Given the description of an element on the screen output the (x, y) to click on. 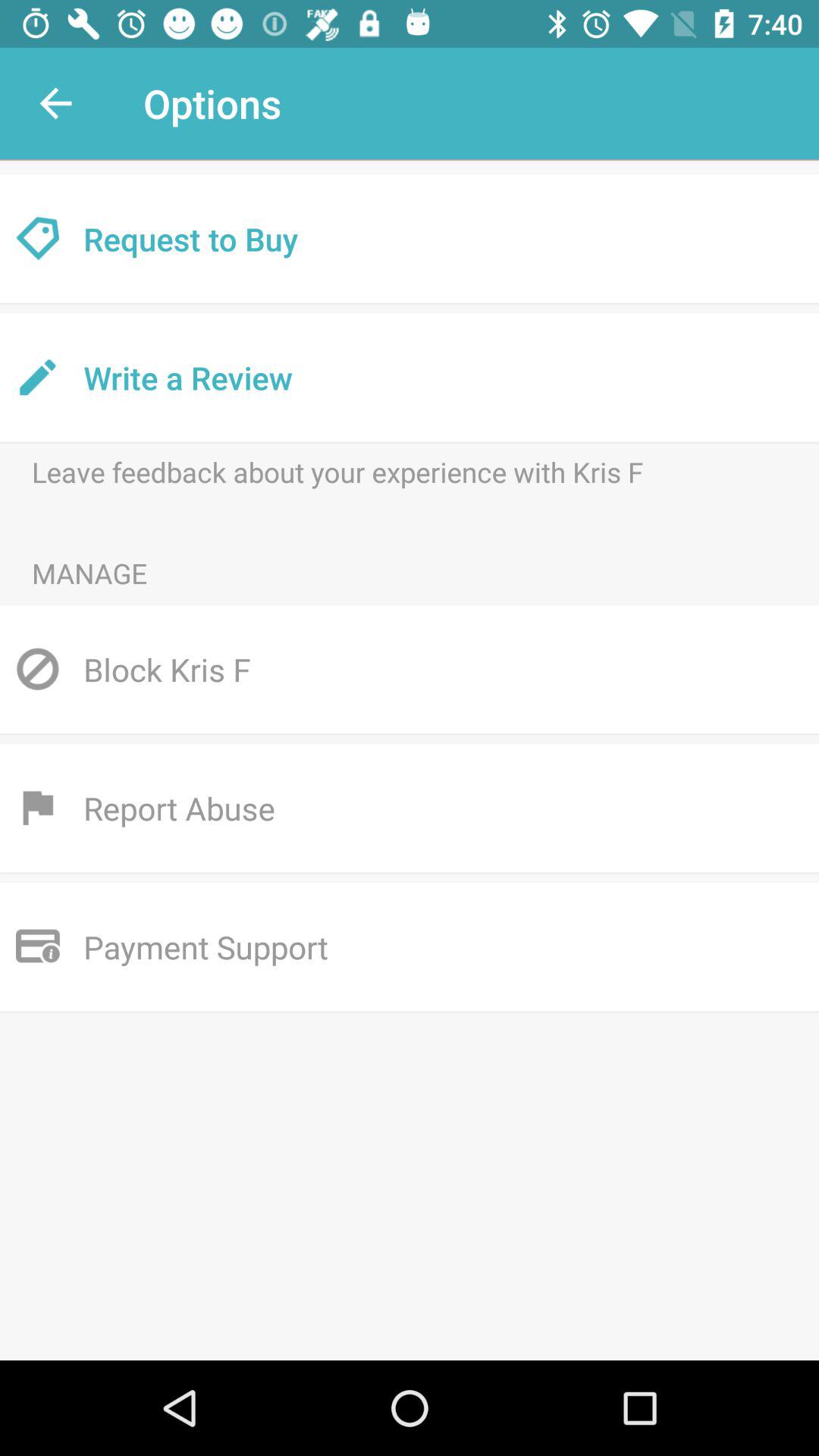
open the icon to the left of the options icon (55, 103)
